Given the description of an element on the screen output the (x, y) to click on. 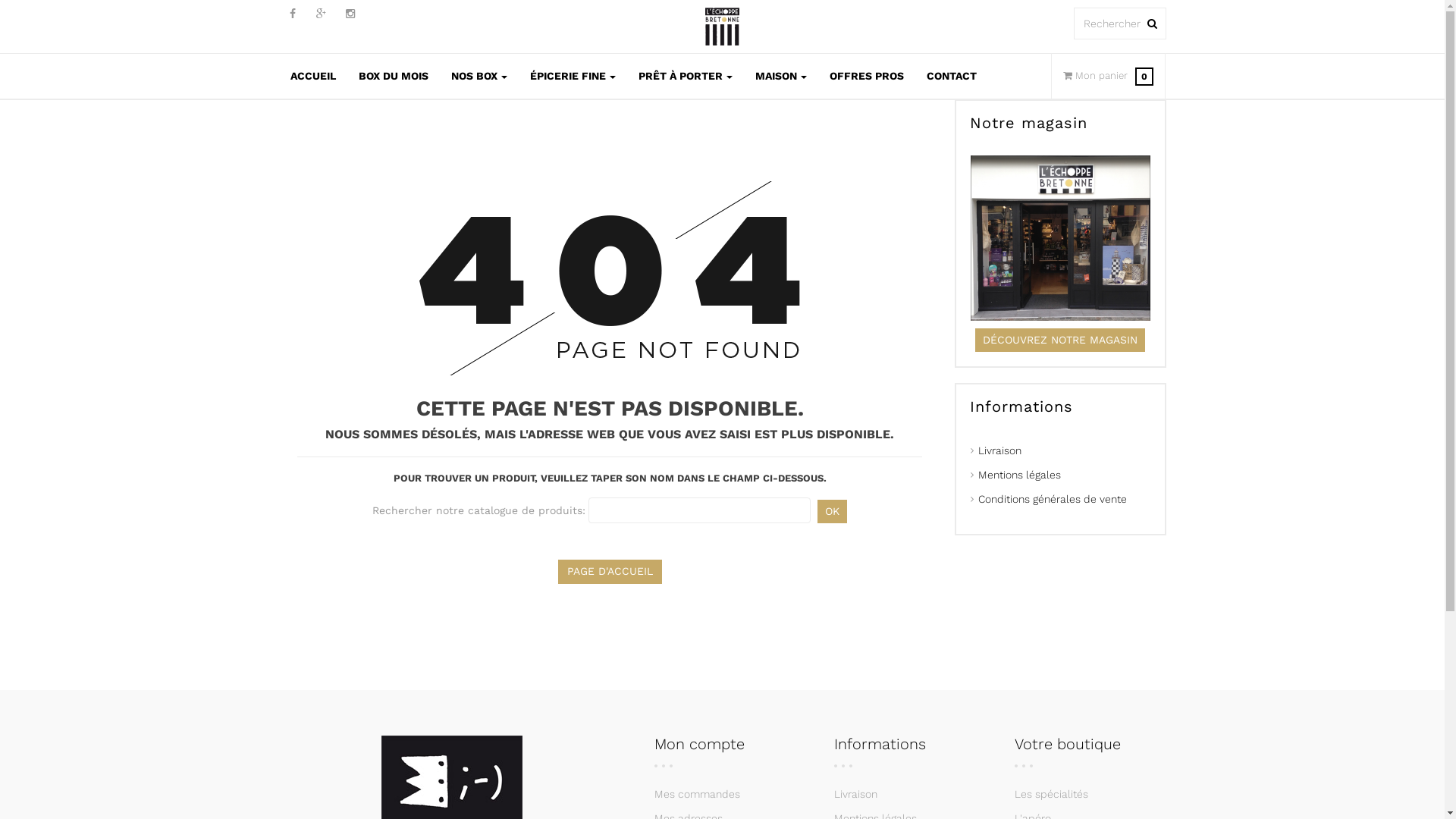
Notre magasin Element type: hover (1060, 237)
OK Element type: text (832, 511)
Livraison Element type: text (855, 793)
MAISON Element type: text (780, 75)
Informations Element type: text (1020, 406)
Mes commandes Element type: text (697, 793)
Mon compte Element type: text (699, 743)
  Element type: text (1152, 23)
Mon panier
0 Element type: text (1144, 75)
NOS BOX Element type: text (478, 75)
ACCUEIL Element type: text (313, 75)
Livraison Element type: text (999, 450)
CONTACT Element type: text (950, 75)
BOX DU MOIS Element type: text (393, 75)
PAGE D'ACCUEIL Element type: text (610, 571)
OFFRES PROS Element type: text (865, 75)
Notre magasin Element type: text (1027, 122)
